Given the description of an element on the screen output the (x, y) to click on. 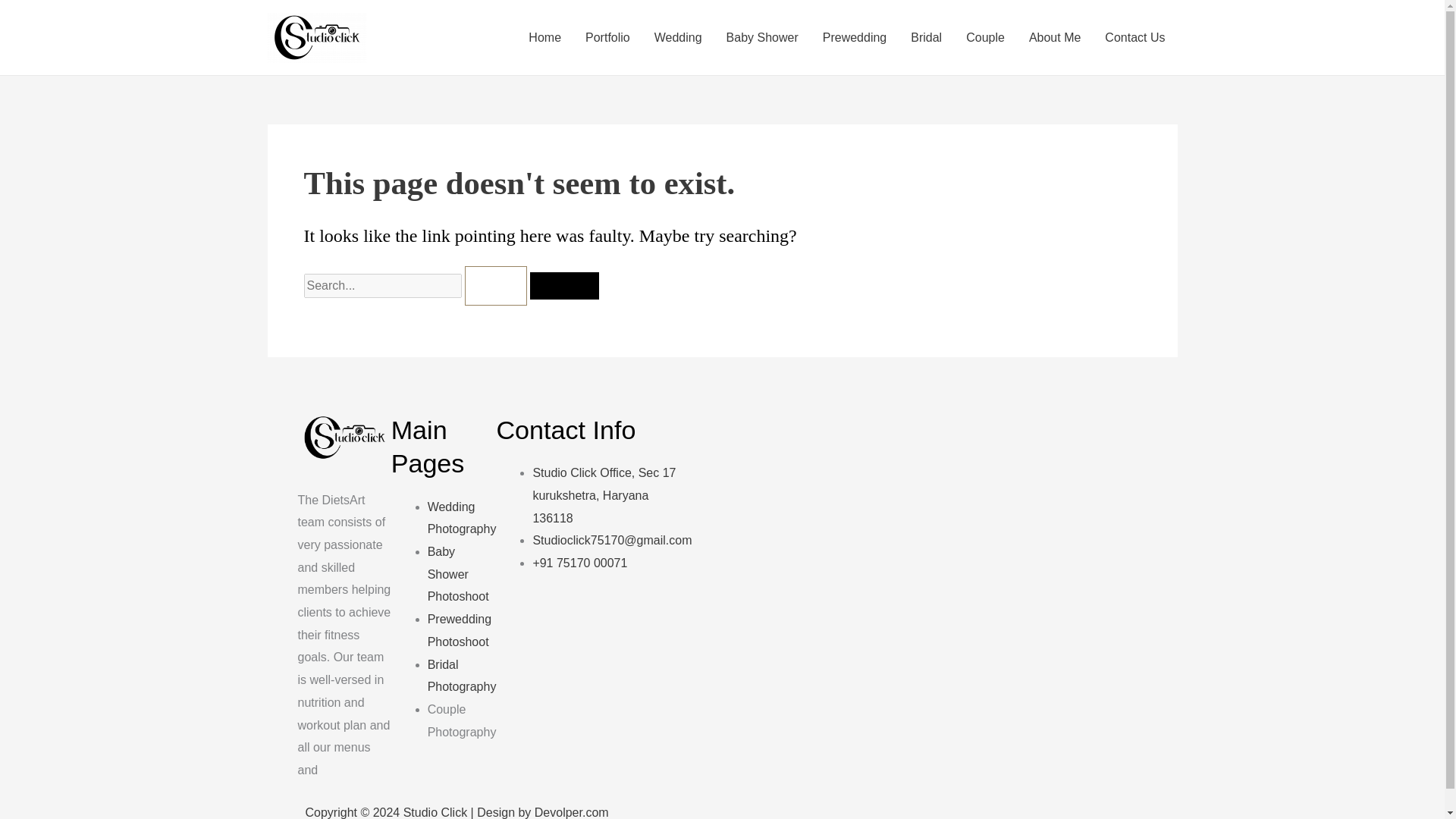
Portfolio (607, 37)
Wedding (678, 37)
Studio Click Office, Sec 17 kurukshetra, Haryana 136118 (603, 495)
Bridal Photography (462, 675)
Prewedding Photoshoot (460, 630)
Contact Us (1134, 37)
Baby Shower Photoshoot (458, 573)
Search (563, 285)
Home (544, 37)
Search (563, 285)
